Given the description of an element on the screen output the (x, y) to click on. 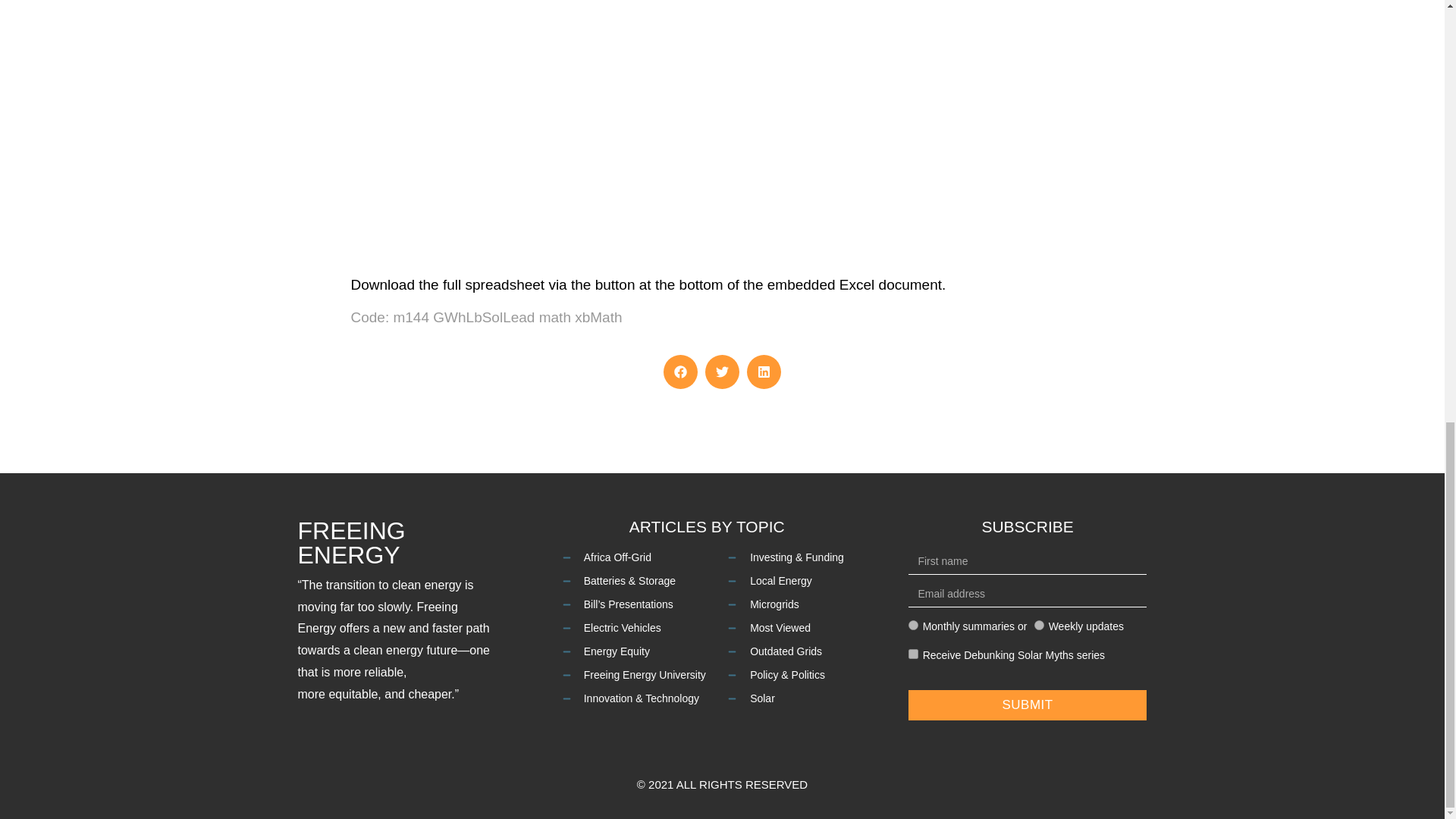
on (913, 654)
Every Update (1038, 624)
Monthly Overview (913, 624)
